Given the description of an element on the screen output the (x, y) to click on. 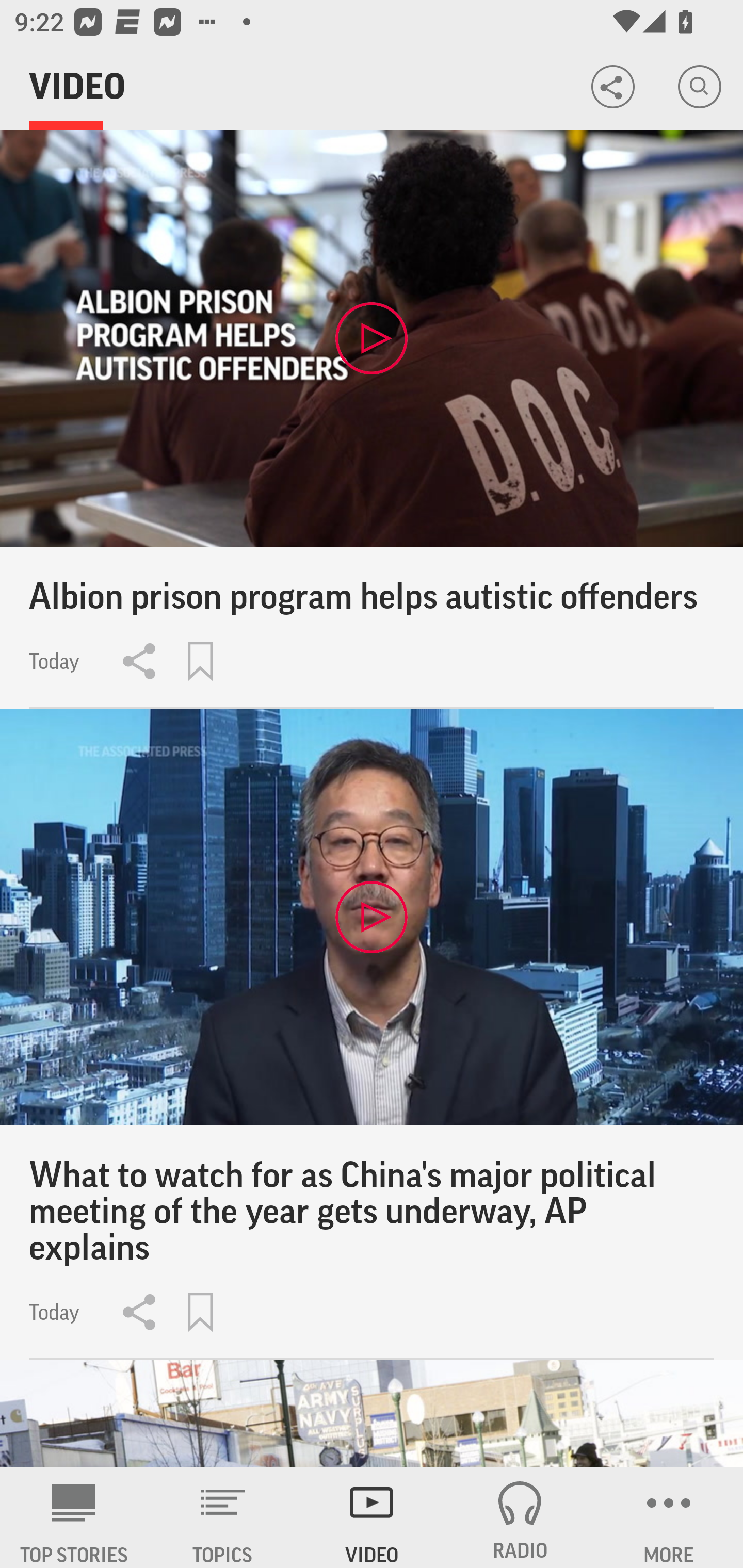
AP News TOP STORIES (74, 1517)
TOPICS (222, 1517)
VIDEO (371, 1517)
RADIO (519, 1517)
MORE (668, 1517)
